Given the description of an element on the screen output the (x, y) to click on. 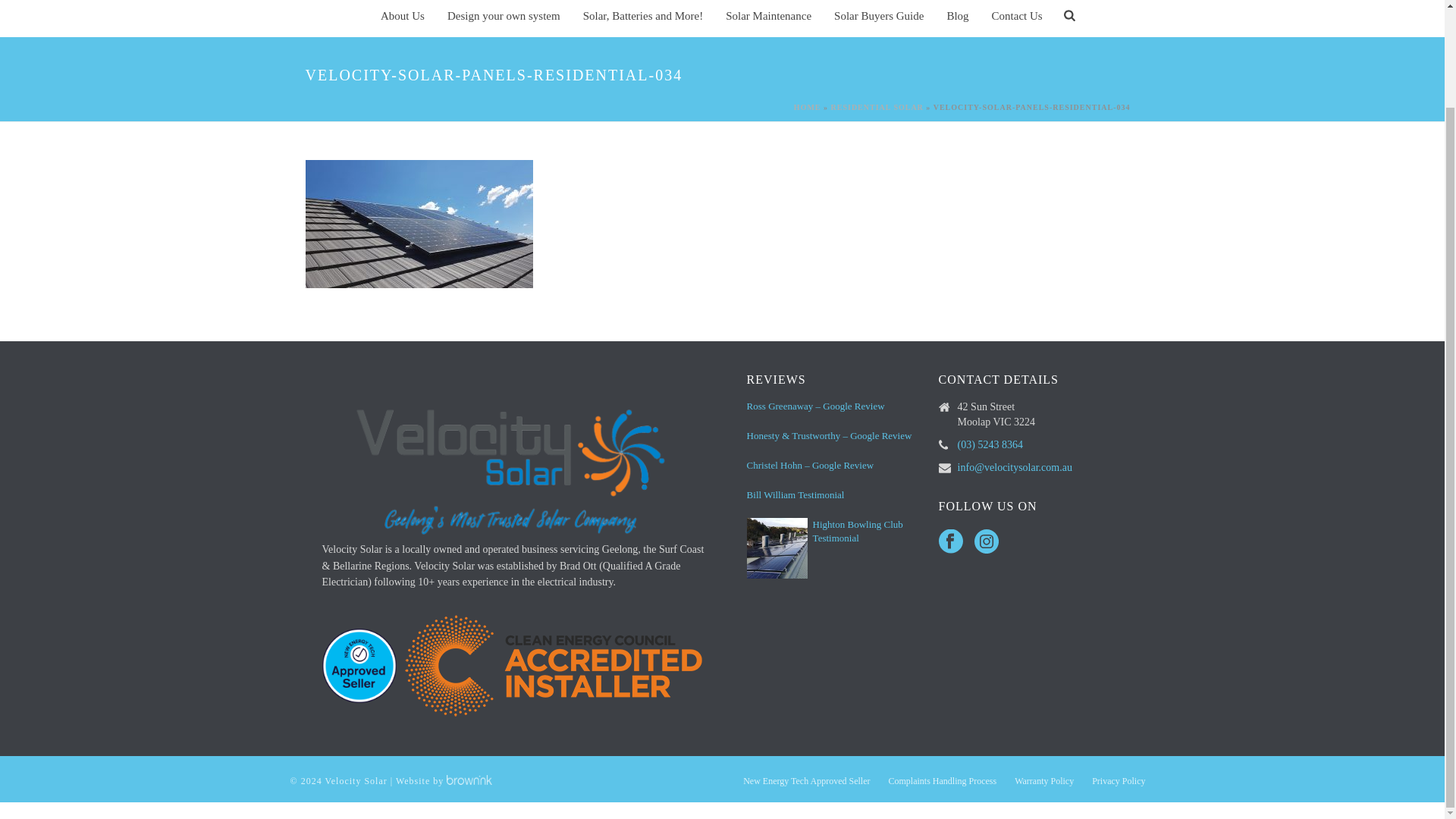
Solar Maintenance (768, 18)
Blog (956, 18)
Contact Us (1016, 18)
About Us (402, 18)
About Us (402, 18)
Follow Us on facebook (950, 542)
Brown Ink Web Design Ballarat (469, 780)
Solar, Batteries and More! (643, 18)
Design your own system (503, 18)
Solar Maintenance (768, 18)
Design your own system (503, 18)
Solar, Batteries and More! (643, 18)
Solar Buyers Guide (878, 18)
Highton Bowling Club Testimonial (777, 547)
Follow Us on instagram (986, 542)
